Given the description of an element on the screen output the (x, y) to click on. 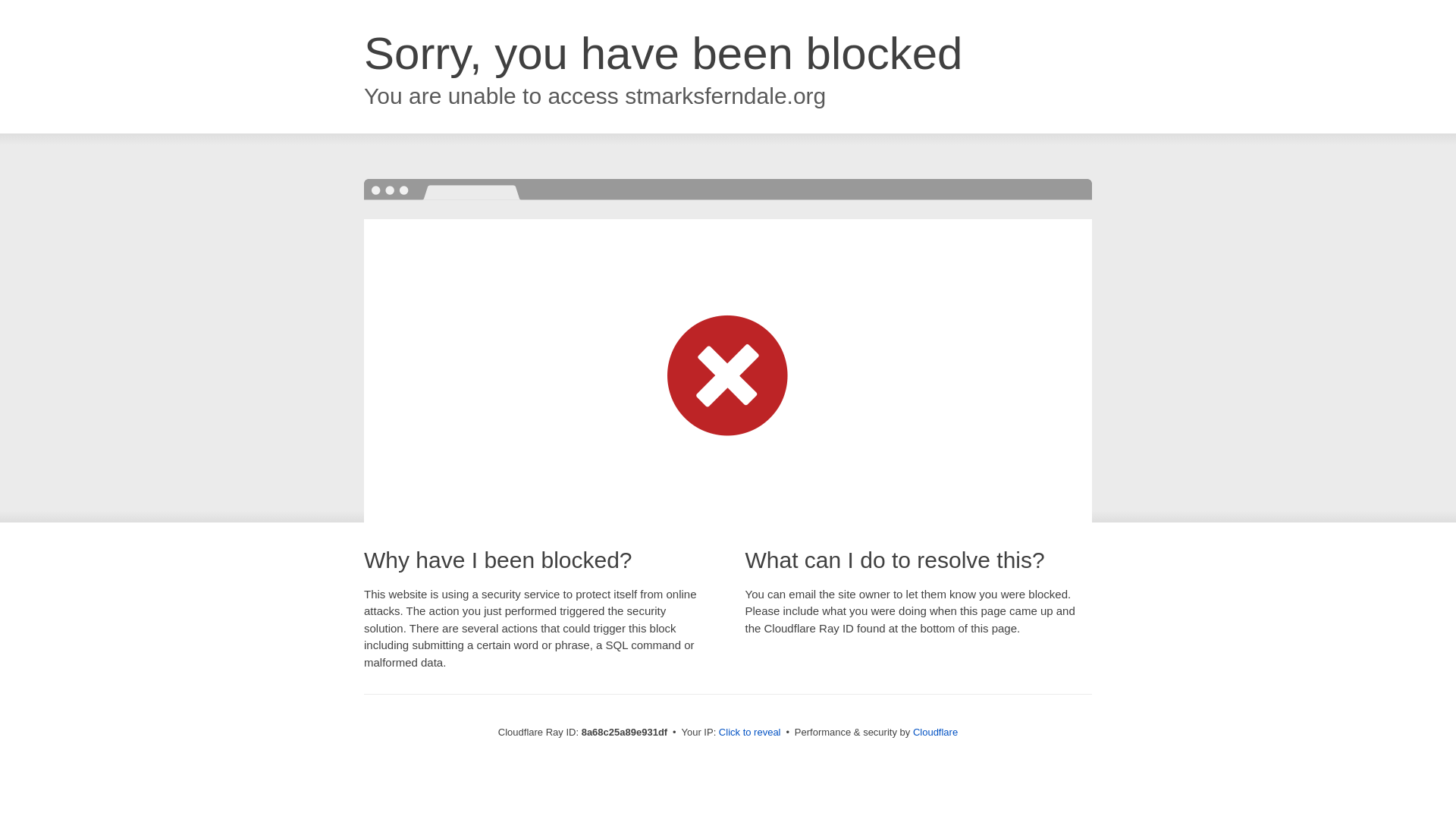
Click to reveal (749, 732)
Cloudflare (935, 731)
